Given the description of an element on the screen output the (x, y) to click on. 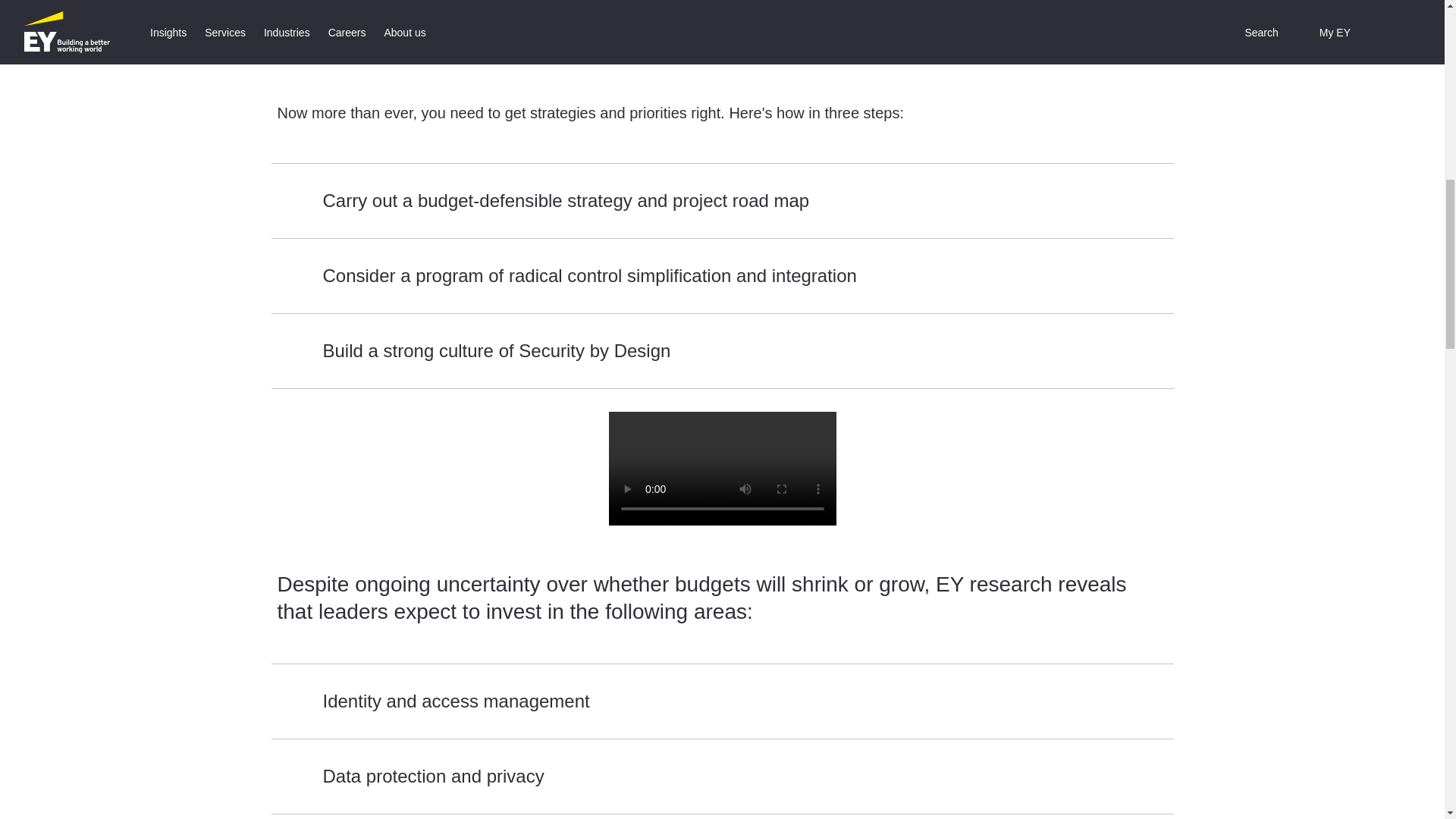
Carry out a budget-defensible strategy and project road map (721, 200)
